Given the description of an element on the screen output the (x, y) to click on. 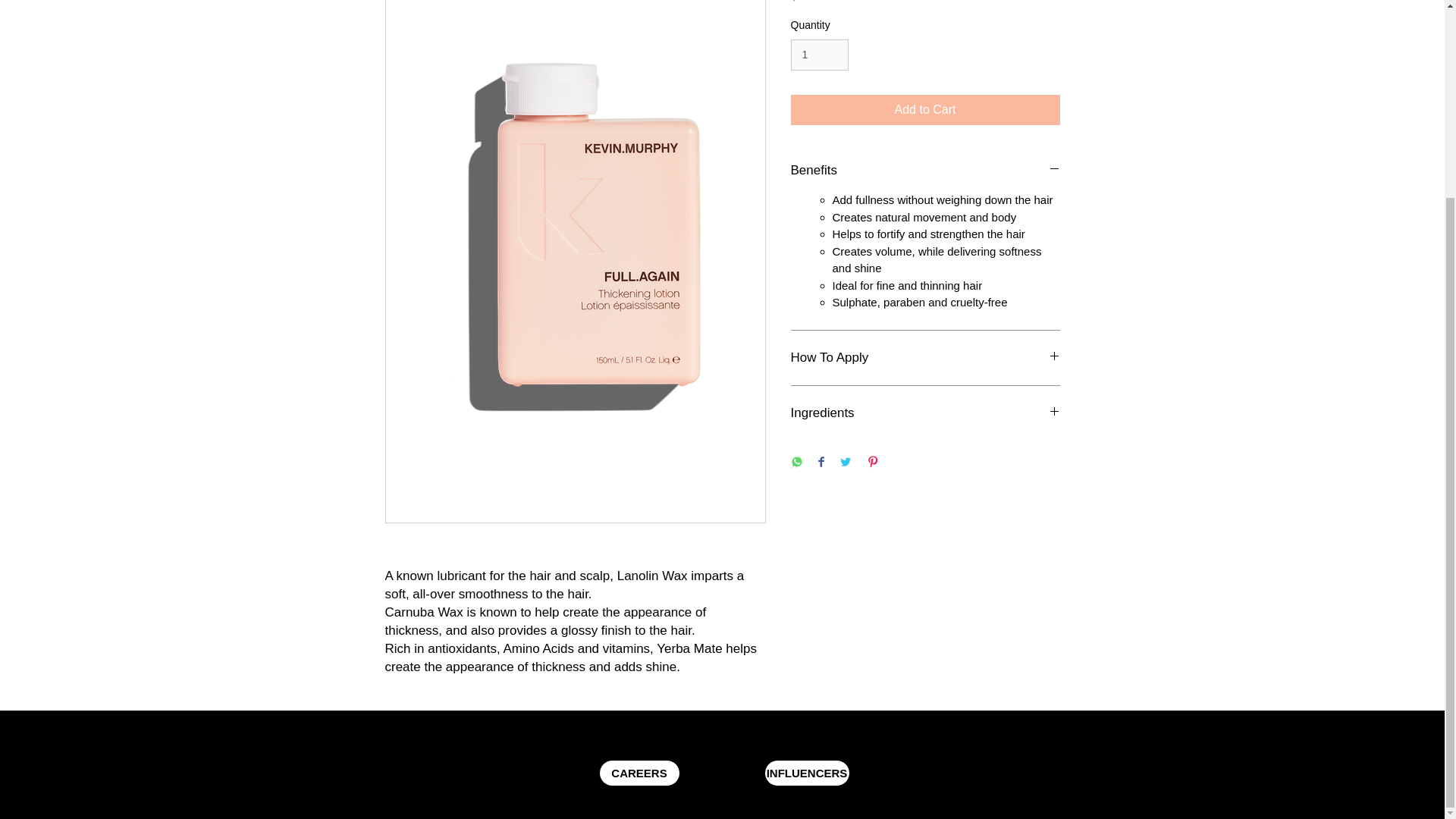
Ingredients (924, 413)
Add to Cart (924, 110)
How To Apply (924, 357)
1 (818, 54)
INFLUENCERS (806, 772)
Benefits (924, 170)
CAREERS (638, 772)
